Given the description of an element on the screen output the (x, y) to click on. 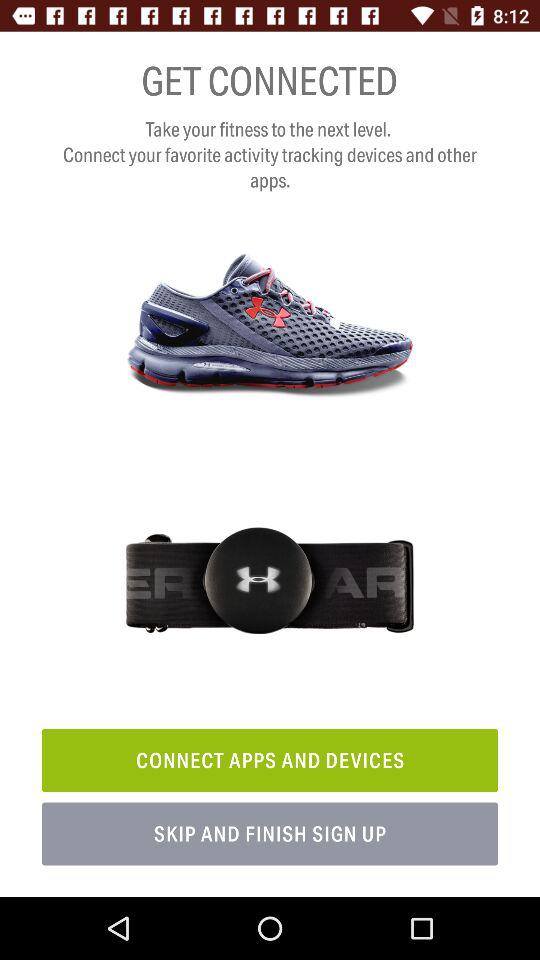
turn off item below the connect apps and icon (269, 833)
